Given the description of an element on the screen output the (x, y) to click on. 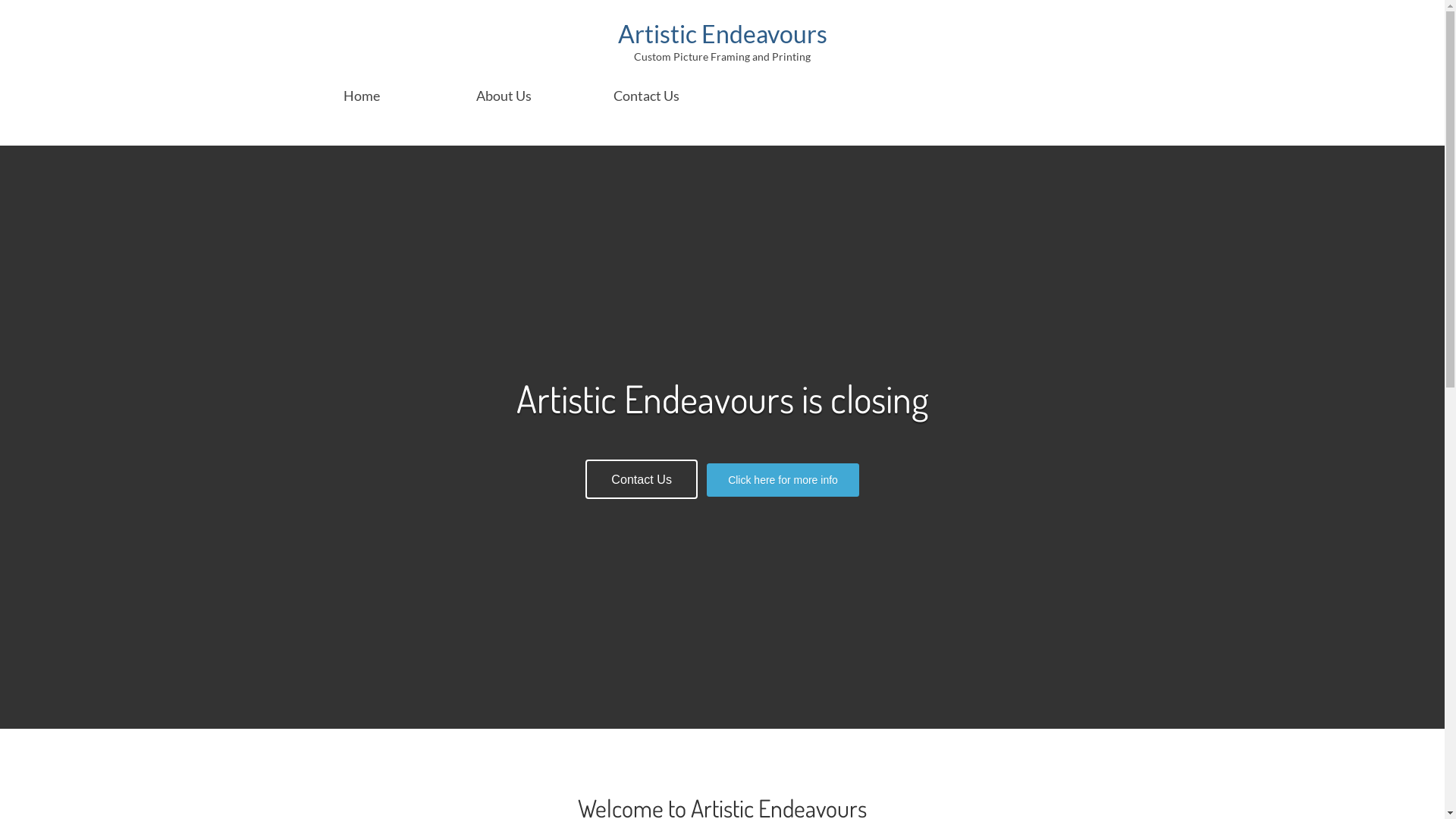
Contact Us Element type: text (641, 478)
Artistic Endeavours Element type: text (721, 33)
About Us Element type: text (504, 95)
Contact Us Element type: text (646, 95)
Home Element type: text (360, 95)
Click here for more info Element type: text (782, 479)
